Given the description of an element on the screen output the (x, y) to click on. 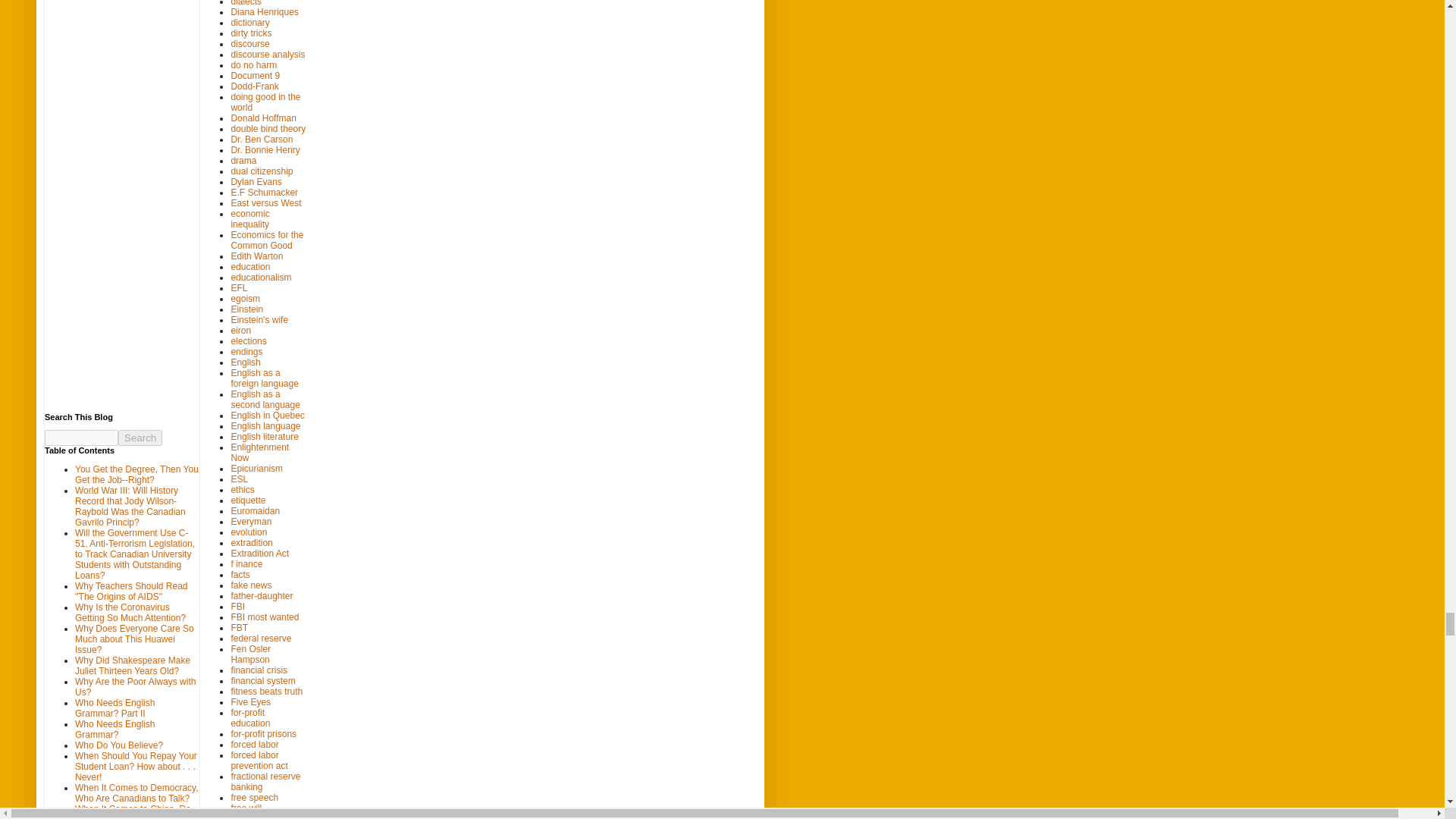
Search (139, 437)
Search (139, 437)
